Given the description of an element on the screen output the (x, y) to click on. 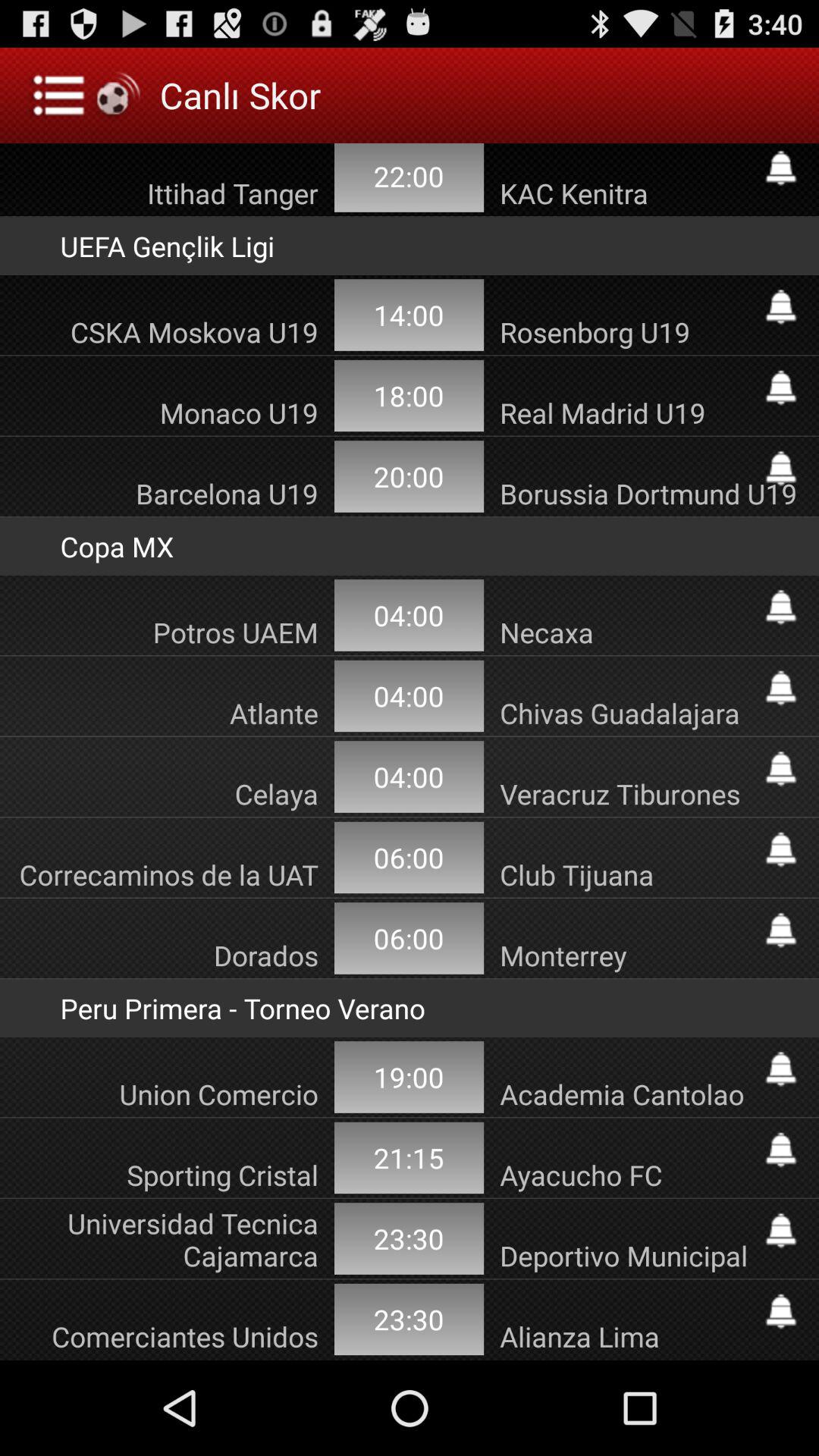
set notification (780, 1069)
